Given the description of an element on the screen output the (x, y) to click on. 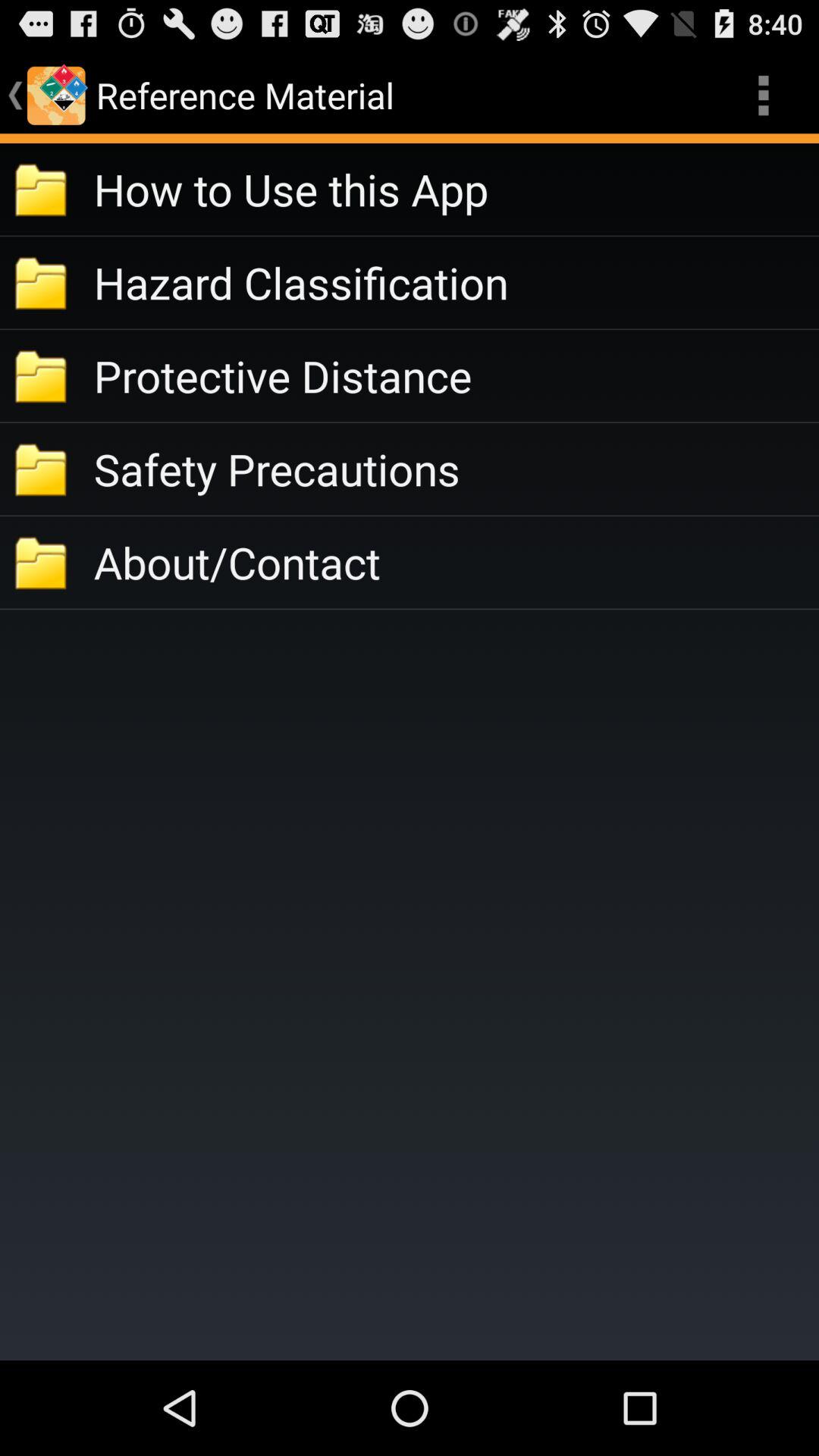
tap app below the safety precautions item (456, 562)
